Given the description of an element on the screen output the (x, y) to click on. 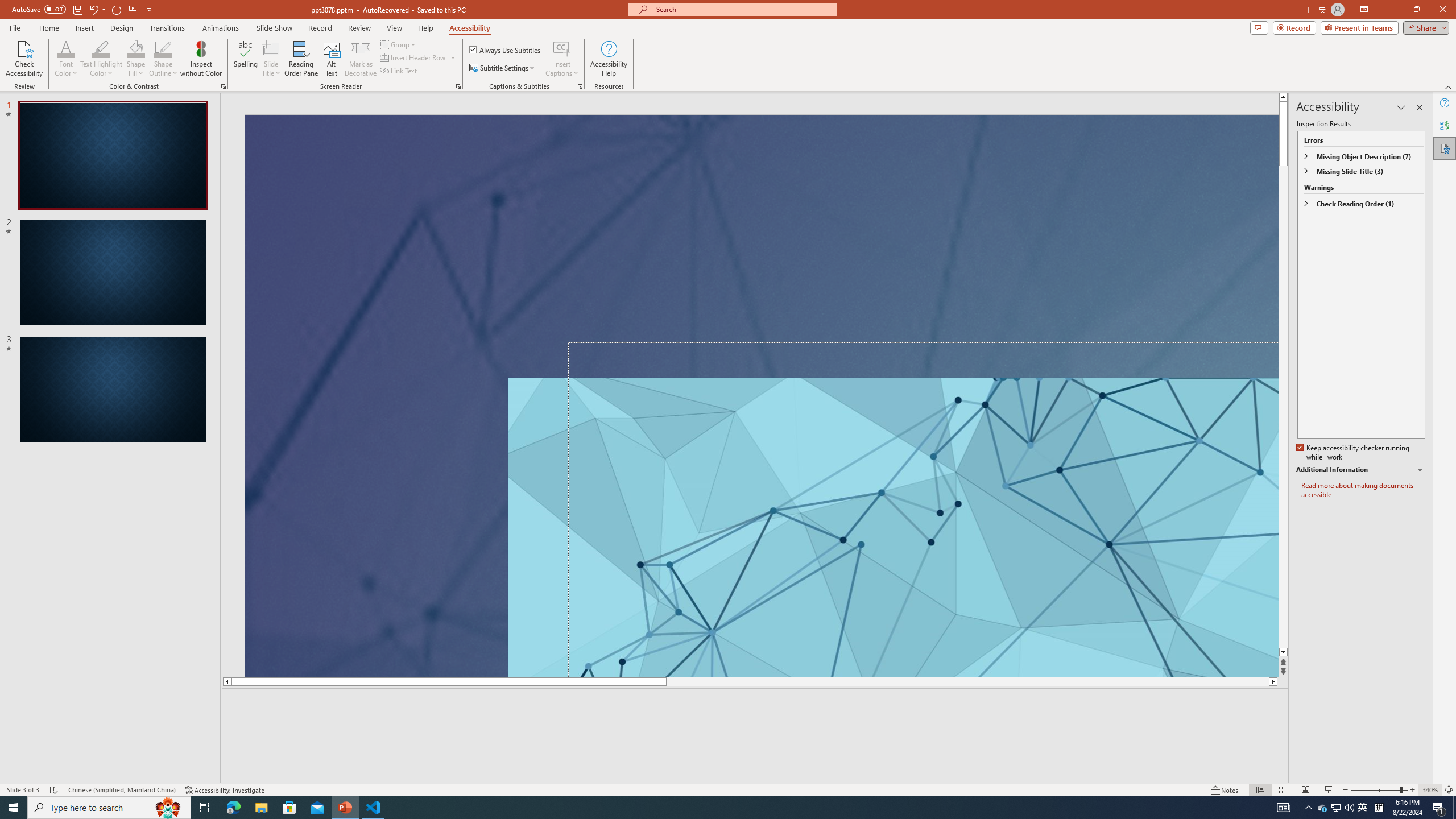
Mark as Decorative (360, 58)
Inspect without Color (201, 58)
Group (398, 44)
Always Use Subtitles (505, 49)
Insert Captions (561, 48)
Spelling... (245, 58)
Zoom 340% (1430, 790)
